Given the description of an element on the screen output the (x, y) to click on. 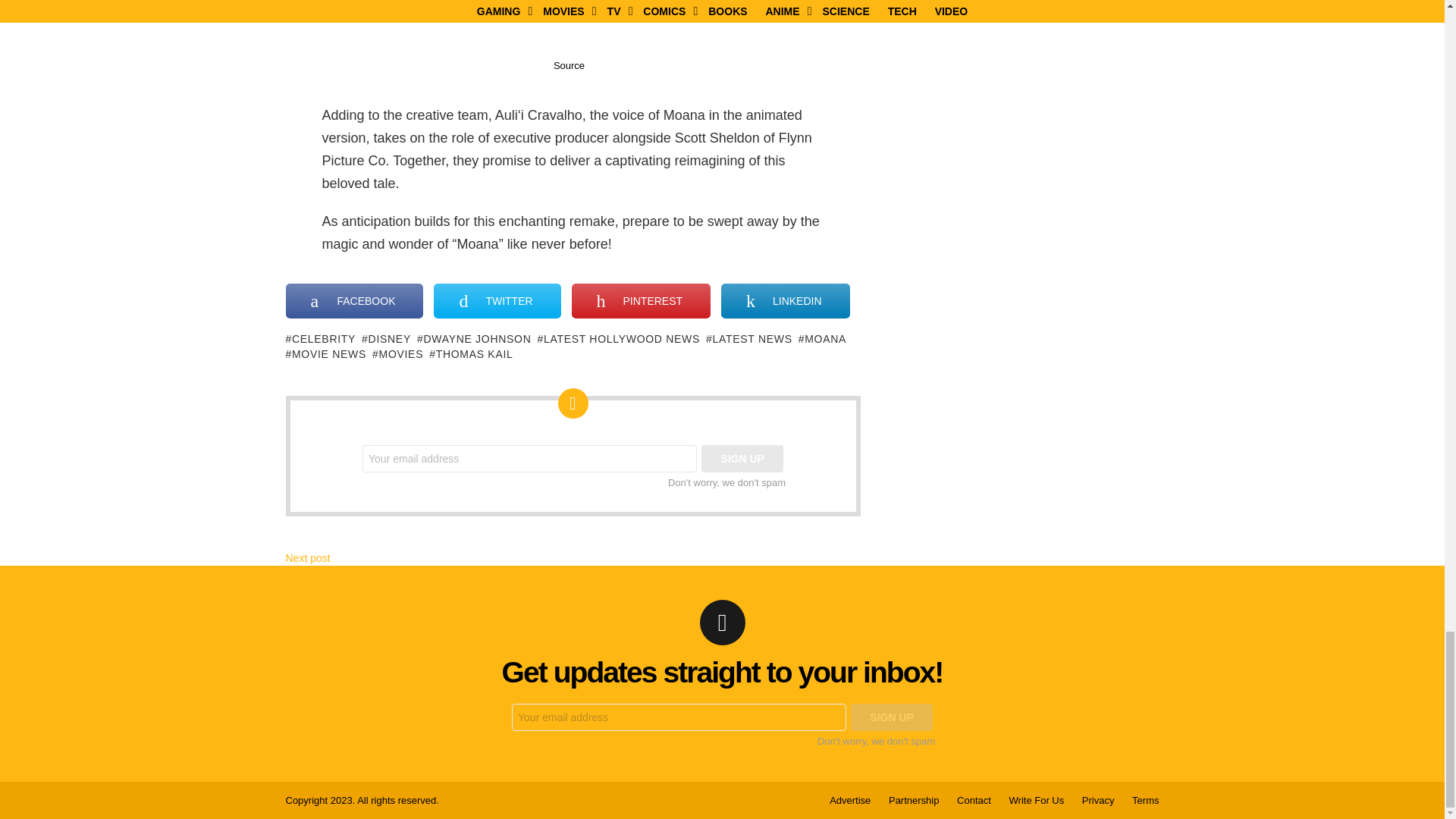
Share on Pinterest (641, 300)
Share on Twitter (496, 300)
Share on Facebook (354, 300)
Share on LinkedIn (784, 300)
Sign up (891, 717)
Sign up (742, 458)
